Given the description of an element on the screen output the (x, y) to click on. 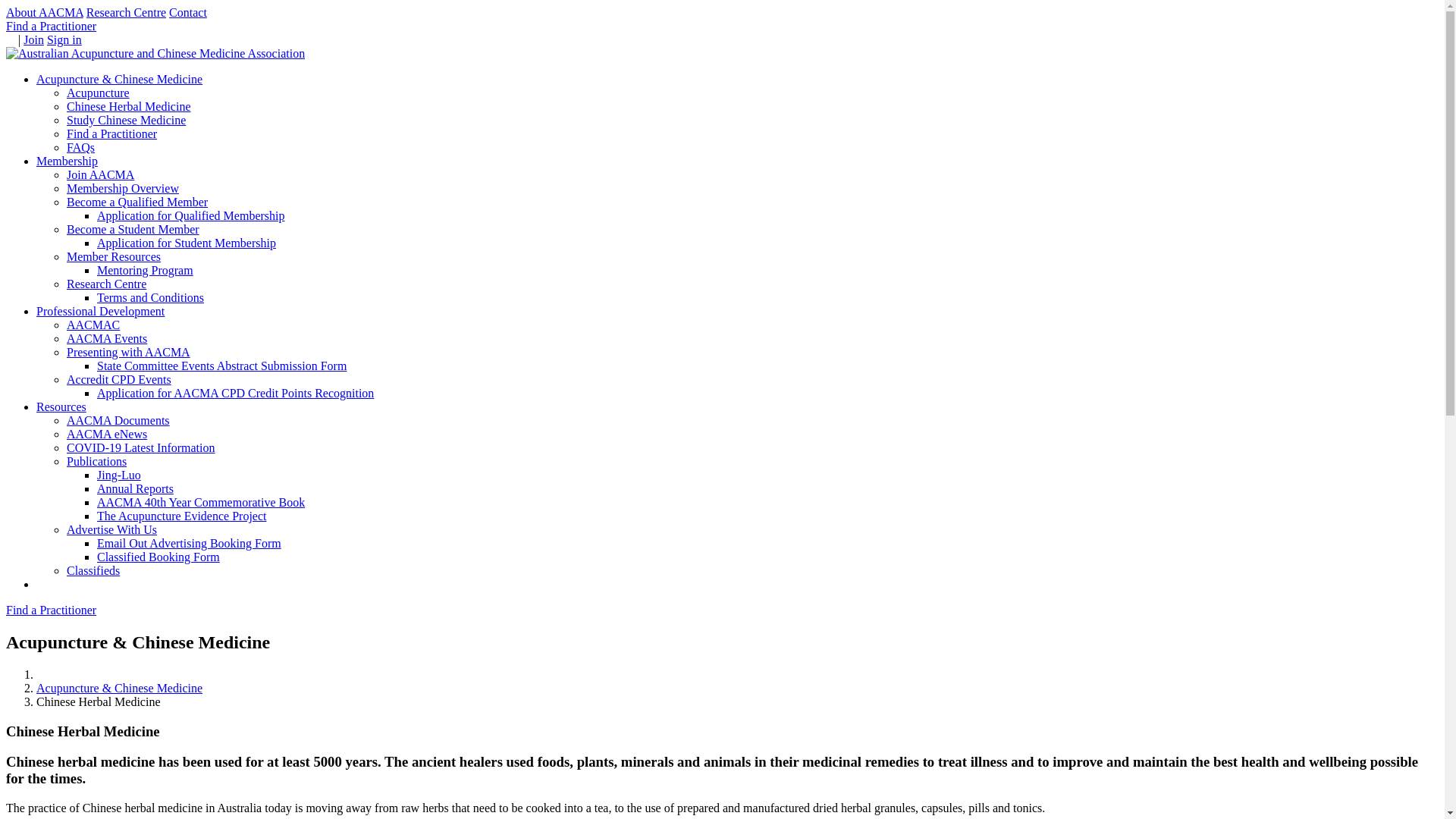
AACMA eNews Element type: text (106, 433)
Classified Booking Form Element type: text (158, 556)
AACMA Events Element type: text (106, 338)
State Committee Events Abstract Submission Form Element type: text (221, 365)
Research Centre Element type: text (126, 12)
Member Resources Element type: text (113, 256)
FAQs Element type: text (80, 147)
Accredit CPD Events Element type: text (118, 379)
Find a Practitioner Element type: text (51, 25)
Application for Qualified Membership Element type: text (191, 215)
Acupuncture Element type: text (97, 92)
Application for Student Membership Element type: text (186, 242)
Classifieds Element type: text (92, 570)
Sign in Element type: text (64, 39)
AACMA Documents Element type: text (117, 420)
Application for AACMA CPD Credit Points Recognition Element type: text (235, 392)
Join AACMA Element type: text (100, 174)
Research Centre Element type: text (106, 283)
Contact Element type: text (188, 12)
The Acupuncture Evidence Project Element type: text (181, 515)
Annual Reports Element type: text (135, 488)
Membership Overview Element type: text (122, 188)
AACMA 40th Year Commemorative Book Element type: text (200, 501)
Join Element type: text (33, 39)
Presenting with AACMA Element type: text (128, 351)
Terms and Conditions Element type: text (150, 297)
Membership Element type: text (66, 160)
Chinese Herbal Medicine Element type: text (128, 106)
Email Out Advertising Booking Form Element type: text (189, 542)
AACMAC Element type: text (92, 324)
Become a Student Member Element type: text (132, 228)
Find a Practitioner Element type: text (111, 133)
Acupuncture & Chinese Medicine Element type: text (119, 78)
About AACMA Element type: text (44, 12)
Study Chinese Medicine Element type: text (125, 119)
Jing-Luo Element type: text (119, 474)
Resources Element type: text (61, 406)
COVID-19 Latest Information Element type: text (140, 447)
Advertise With Us Element type: text (111, 529)
Mentoring Program Element type: text (145, 269)
Publications Element type: text (96, 461)
Become a Qualified Member Element type: text (136, 201)
Professional Development Element type: text (100, 310)
Find a Practitioner Element type: text (51, 609)
Acupuncture & Chinese Medicine Element type: text (119, 687)
